Given the description of an element on the screen output the (x, y) to click on. 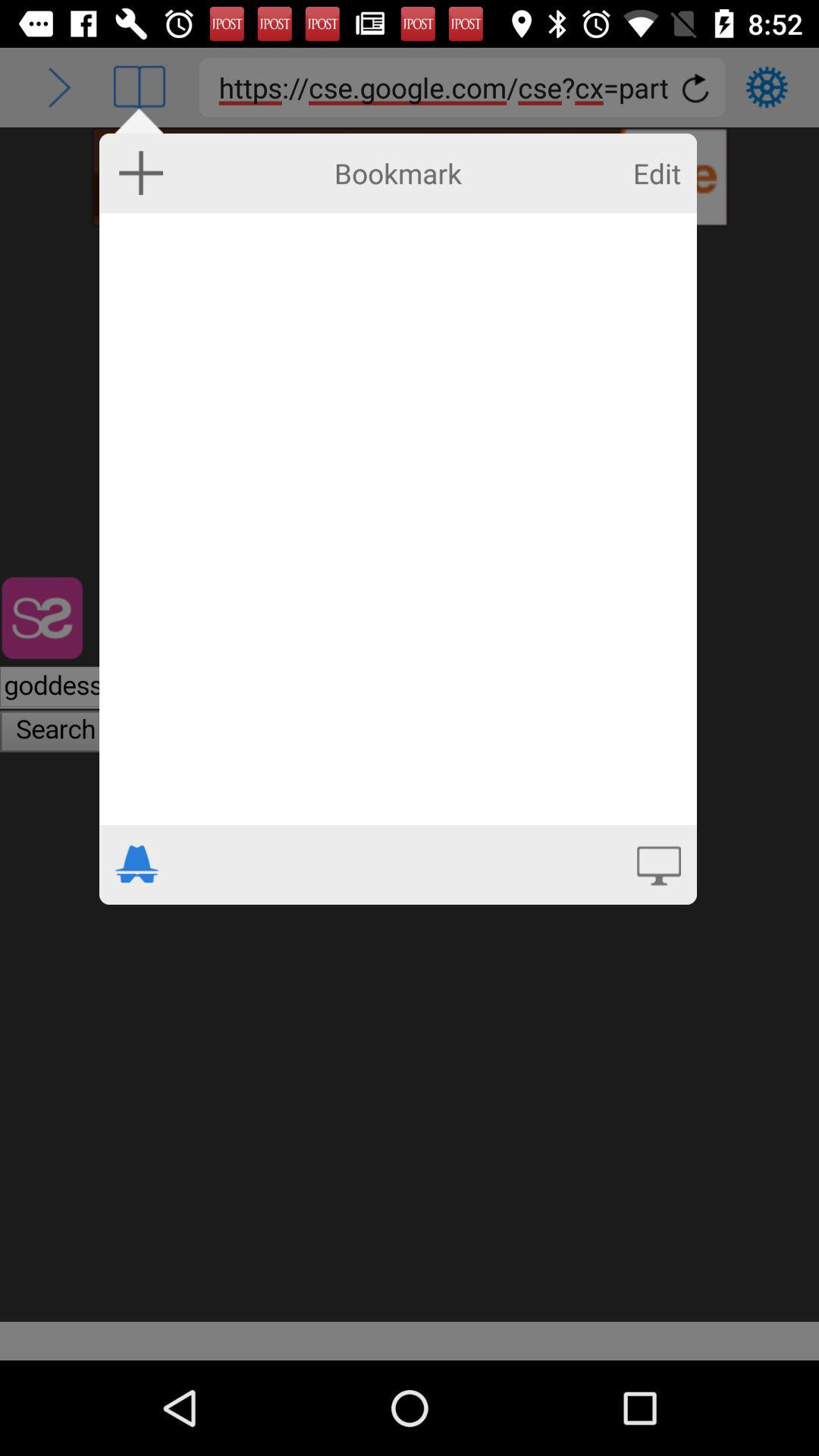
turn on the item next to bookmark item (656, 172)
